Given the description of an element on the screen output the (x, y) to click on. 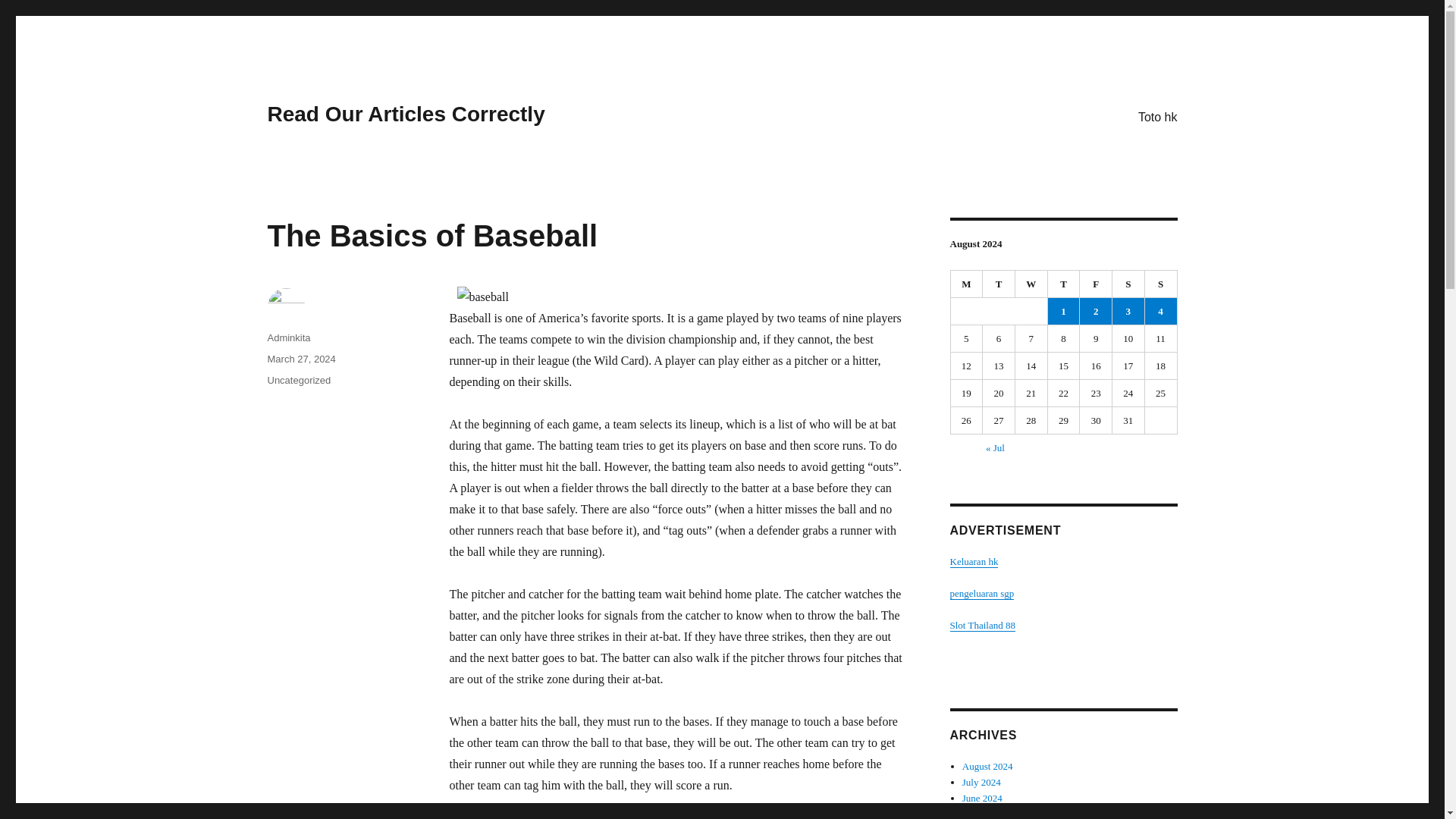
Uncategorized (298, 379)
Saturday (1128, 284)
Wednesday (1031, 284)
Read Our Articles Correctly (405, 114)
Toto hk (1157, 116)
Thursday (1064, 284)
Friday (1096, 284)
Sunday (1160, 284)
Adminkita (288, 337)
March 27, 2024 (300, 358)
Monday (967, 284)
Tuesday (998, 284)
